Given the description of an element on the screen output the (x, y) to click on. 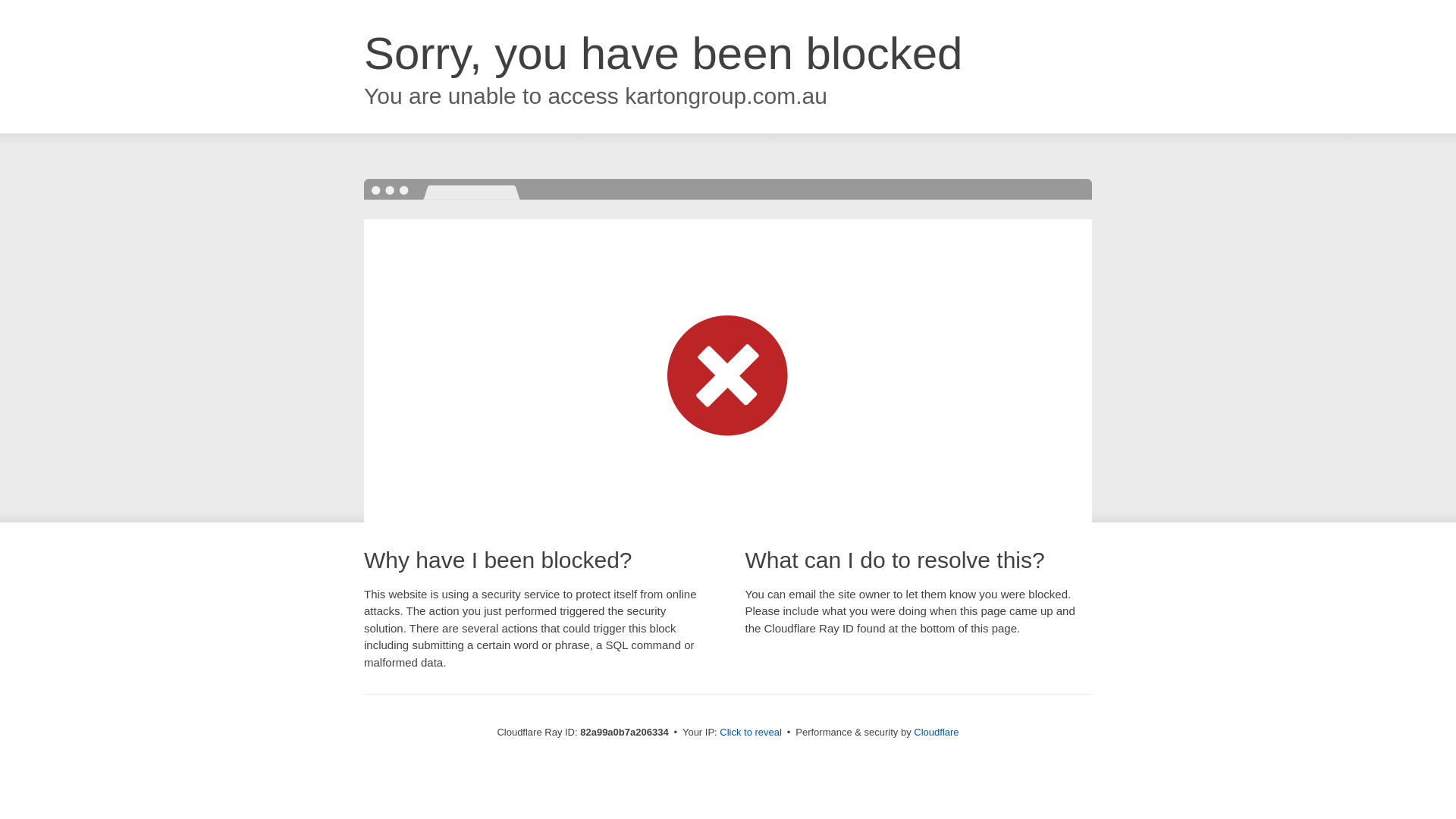
Cloudflare Element type: text (935, 731)
Click to reveal Element type: text (750, 732)
